Given the description of an element on the screen output the (x, y) to click on. 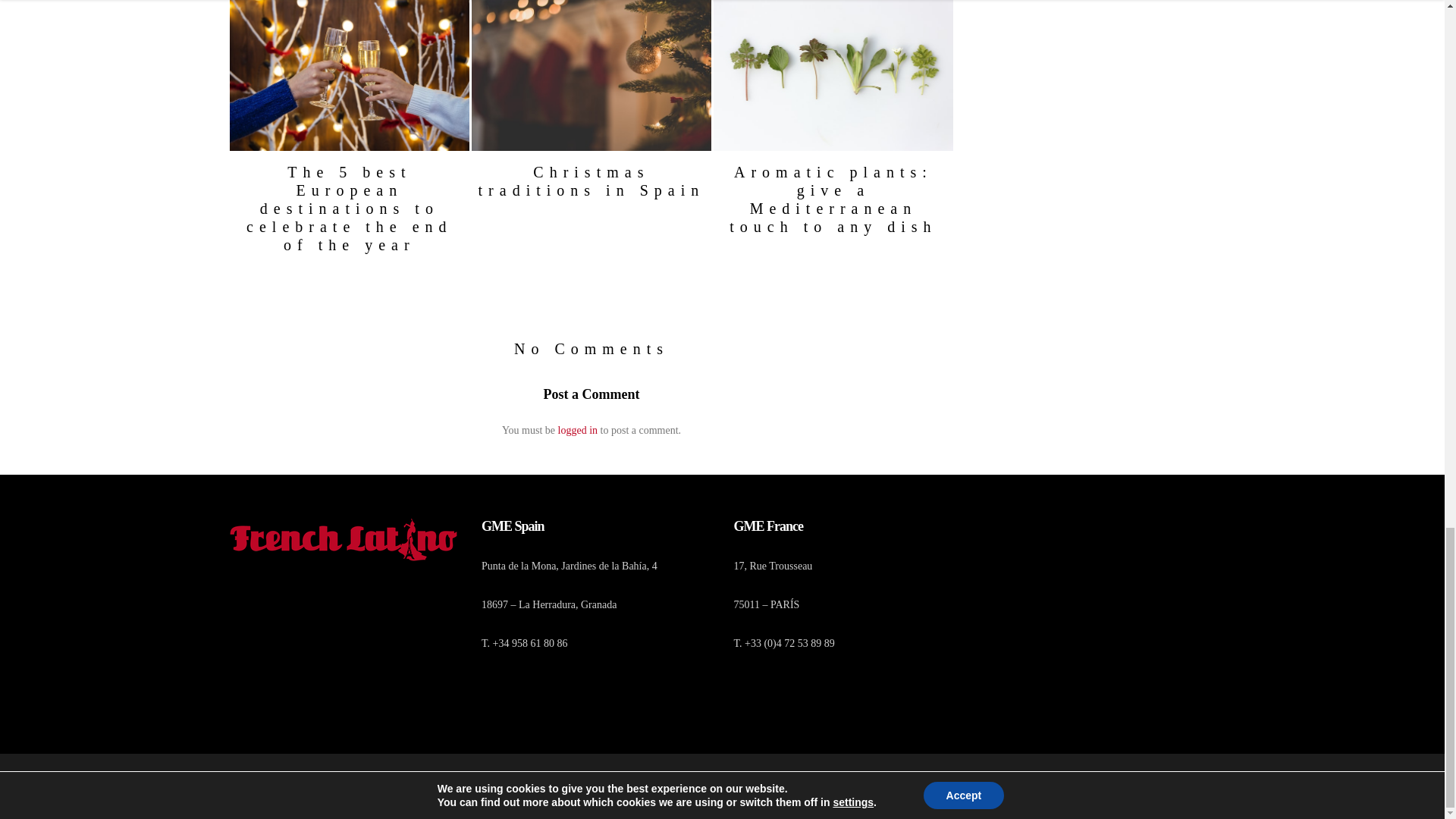
Christmas traditions in Spain (591, 180)
Aromatic plants: give a Mediterranean touch to any dish (833, 198)
